Given the description of an element on the screen output the (x, y) to click on. 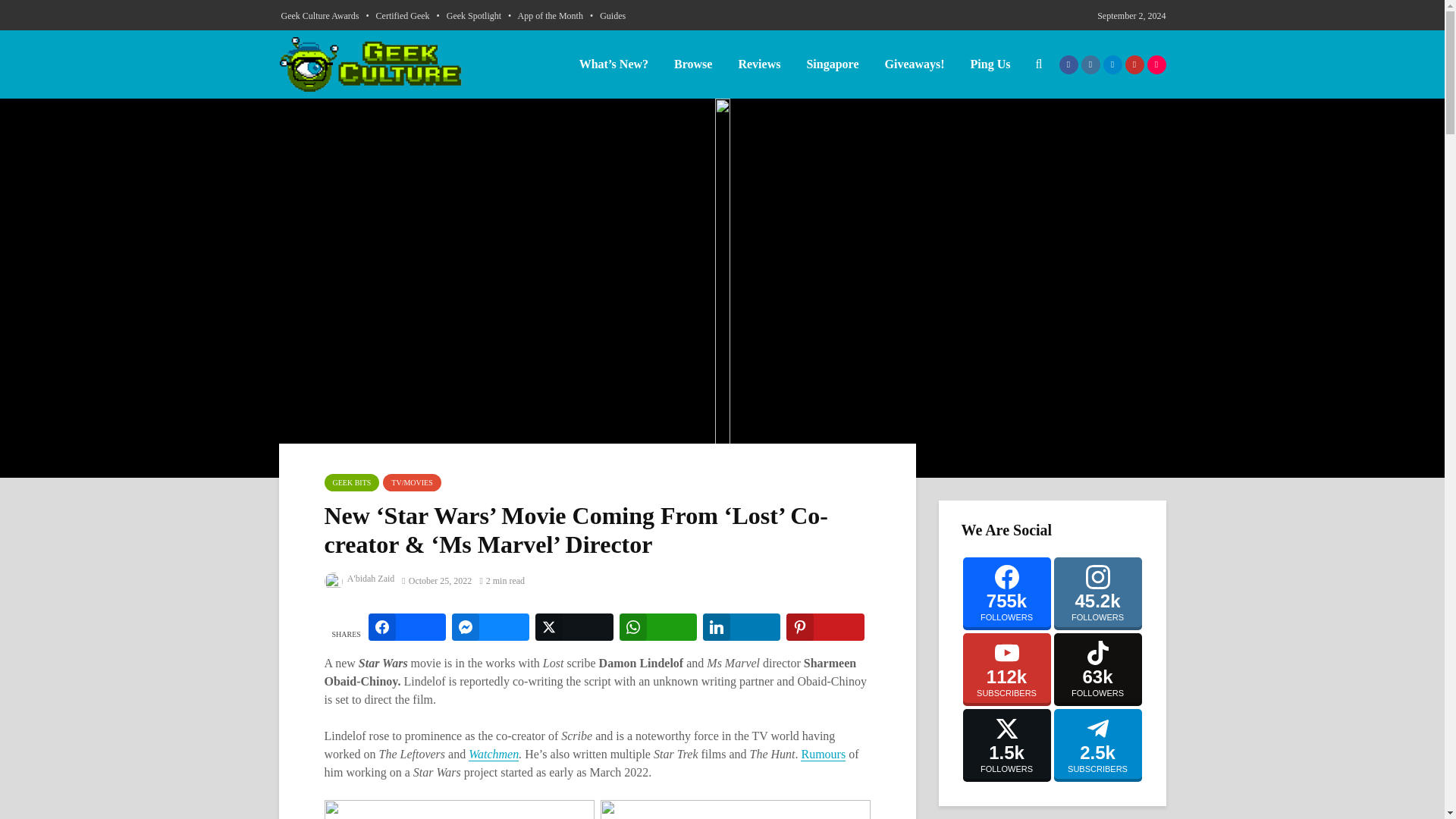
Share on LinkedIn (741, 626)
Ping Us (990, 64)
Share on Facebook (406, 626)
Reviews (759, 64)
Share on Twitter (573, 626)
Singapore (831, 64)
Share on WhatsApp (658, 626)
Browse (692, 64)
Share on Pinterest (824, 626)
Giveaways! (913, 64)
